Given the description of an element on the screen output the (x, y) to click on. 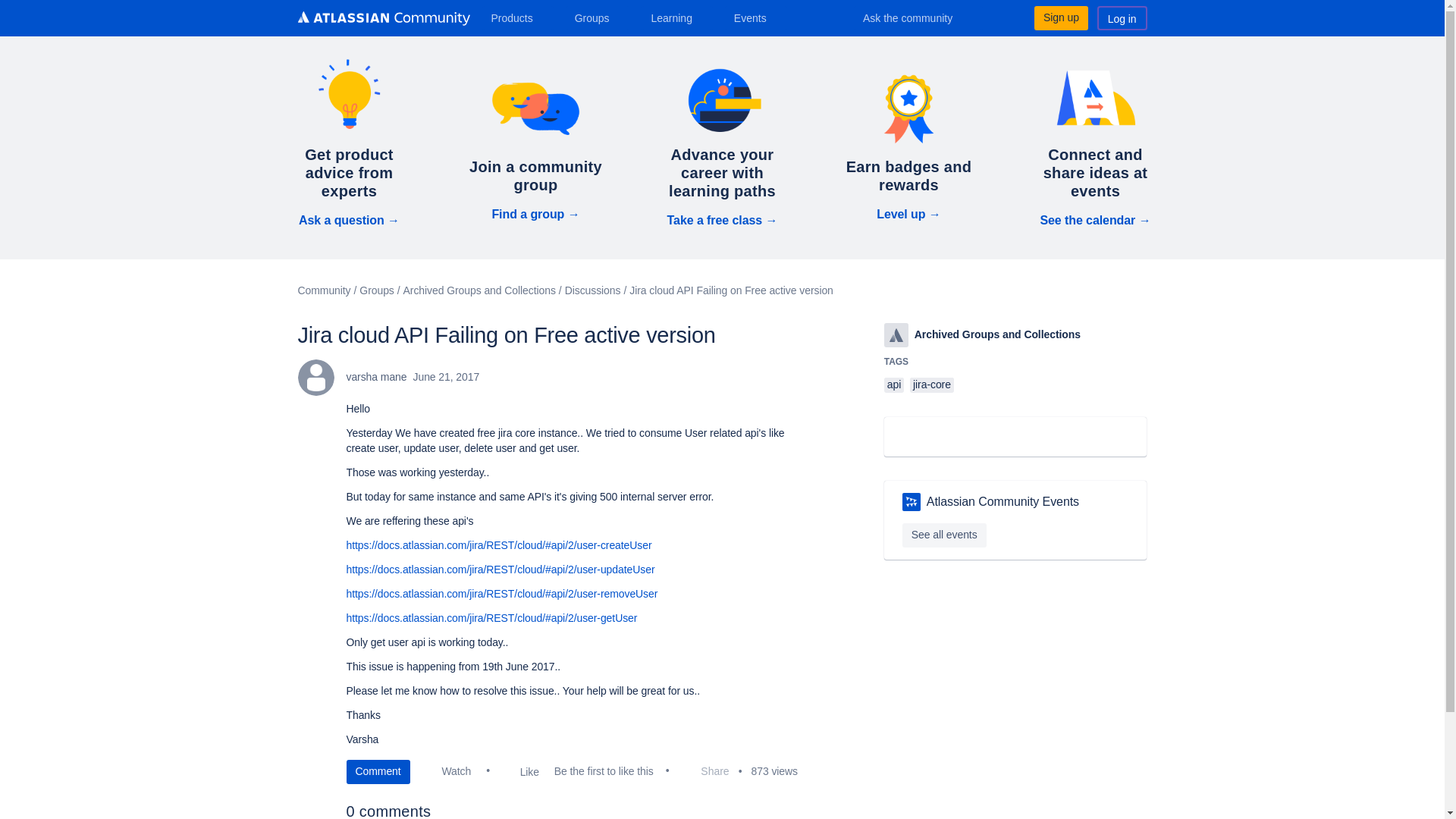
varsha mane (315, 377)
Events (756, 17)
Learning (676, 17)
AUG Leaders (911, 502)
Atlassian logo (895, 334)
Products (517, 17)
Sign up (1060, 17)
Groups (598, 17)
Atlassian Community logo (382, 19)
Ask the community  (917, 17)
Atlassian Community logo (382, 18)
Log in (1122, 17)
